Given the description of an element on the screen output the (x, y) to click on. 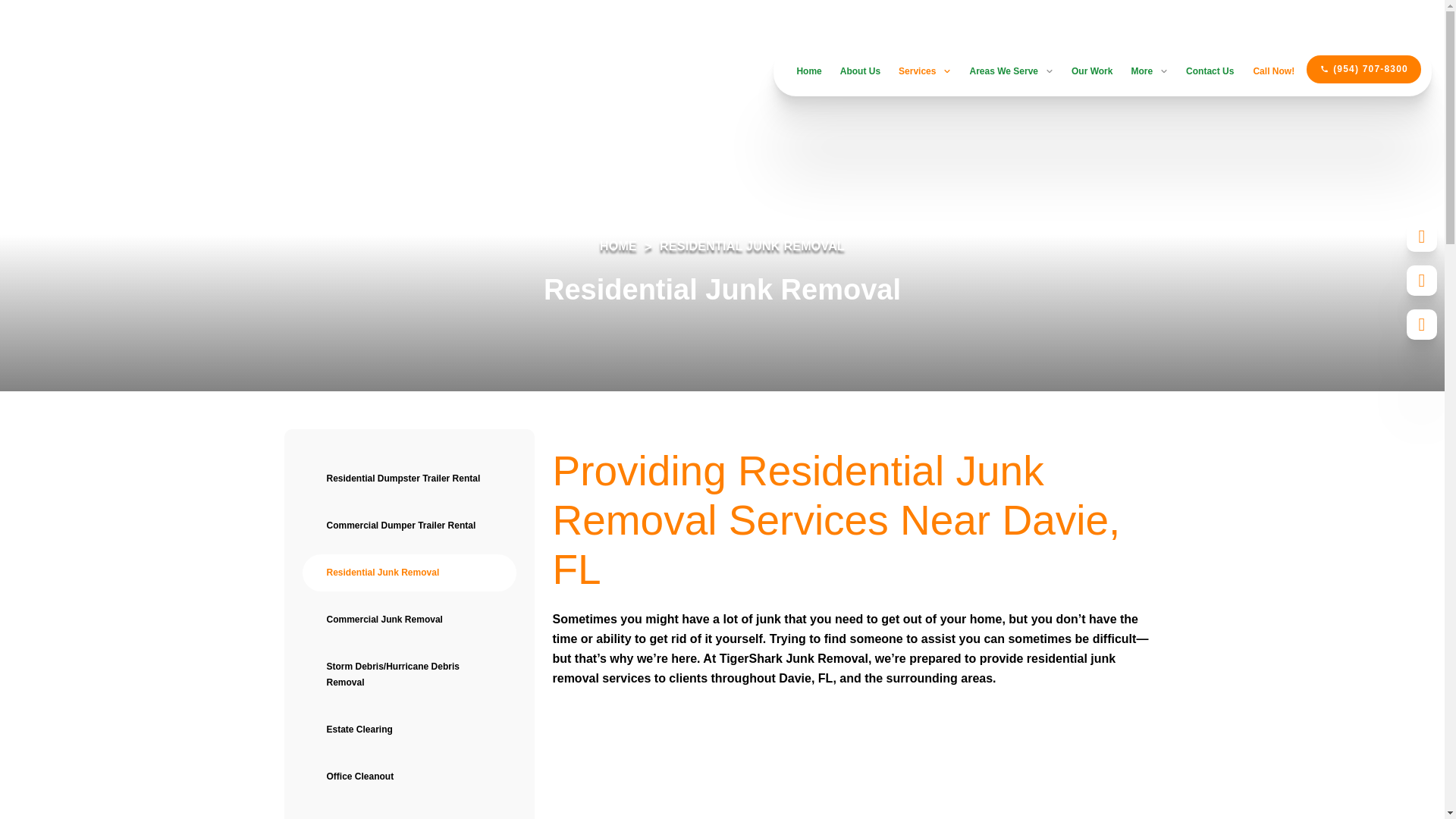
our service residential junk removal deerfield beach FL (855, 766)
Contact Us (1209, 70)
Services (924, 70)
About Us (860, 70)
Our Work (1091, 70)
Home (808, 70)
Areas We Serve (1010, 70)
More (1149, 70)
